Given the description of an element on the screen output the (x, y) to click on. 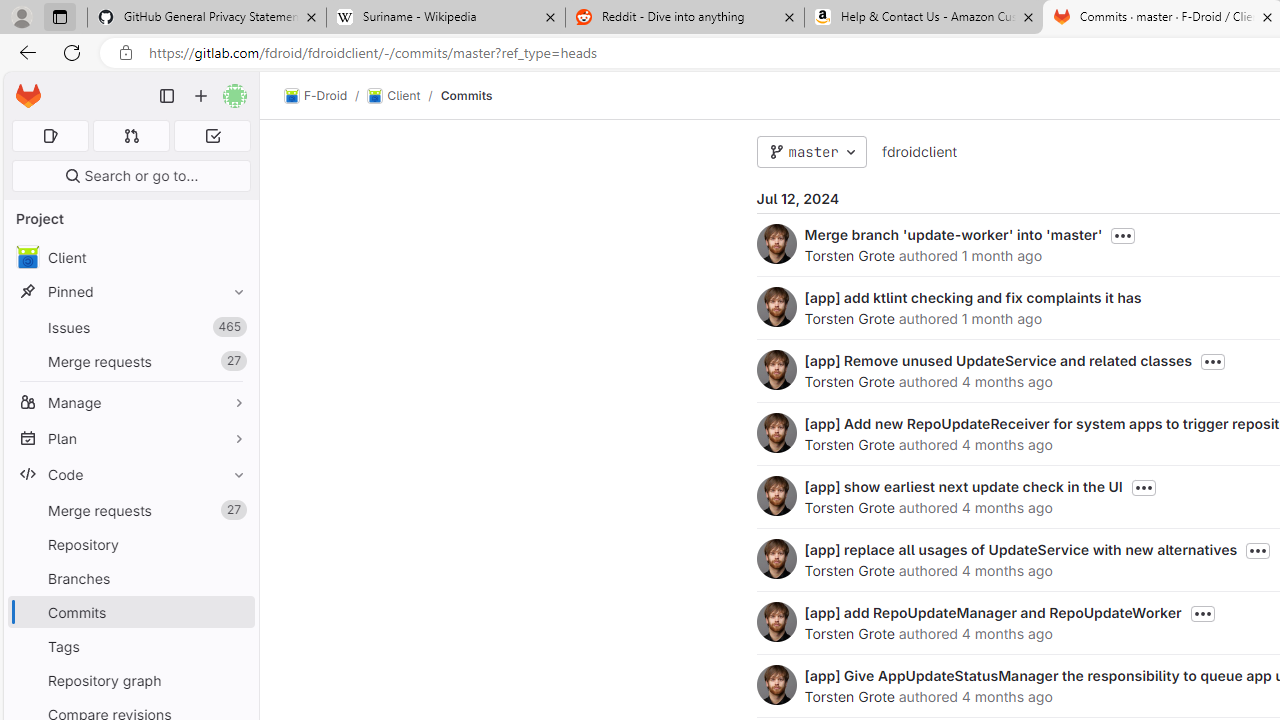
Unpin Issues (234, 327)
Manage (130, 402)
Repository graph (130, 679)
F-Droid/ (326, 96)
Pin Tags (234, 646)
Commits (466, 95)
Pin Branches (234, 578)
Repository graph (130, 679)
Class: s16 gl-icon gl-button-icon  (1202, 614)
Tags (130, 646)
[app] add ktlint checking and fix complaints it has (972, 297)
